Given the description of an element on the screen output the (x, y) to click on. 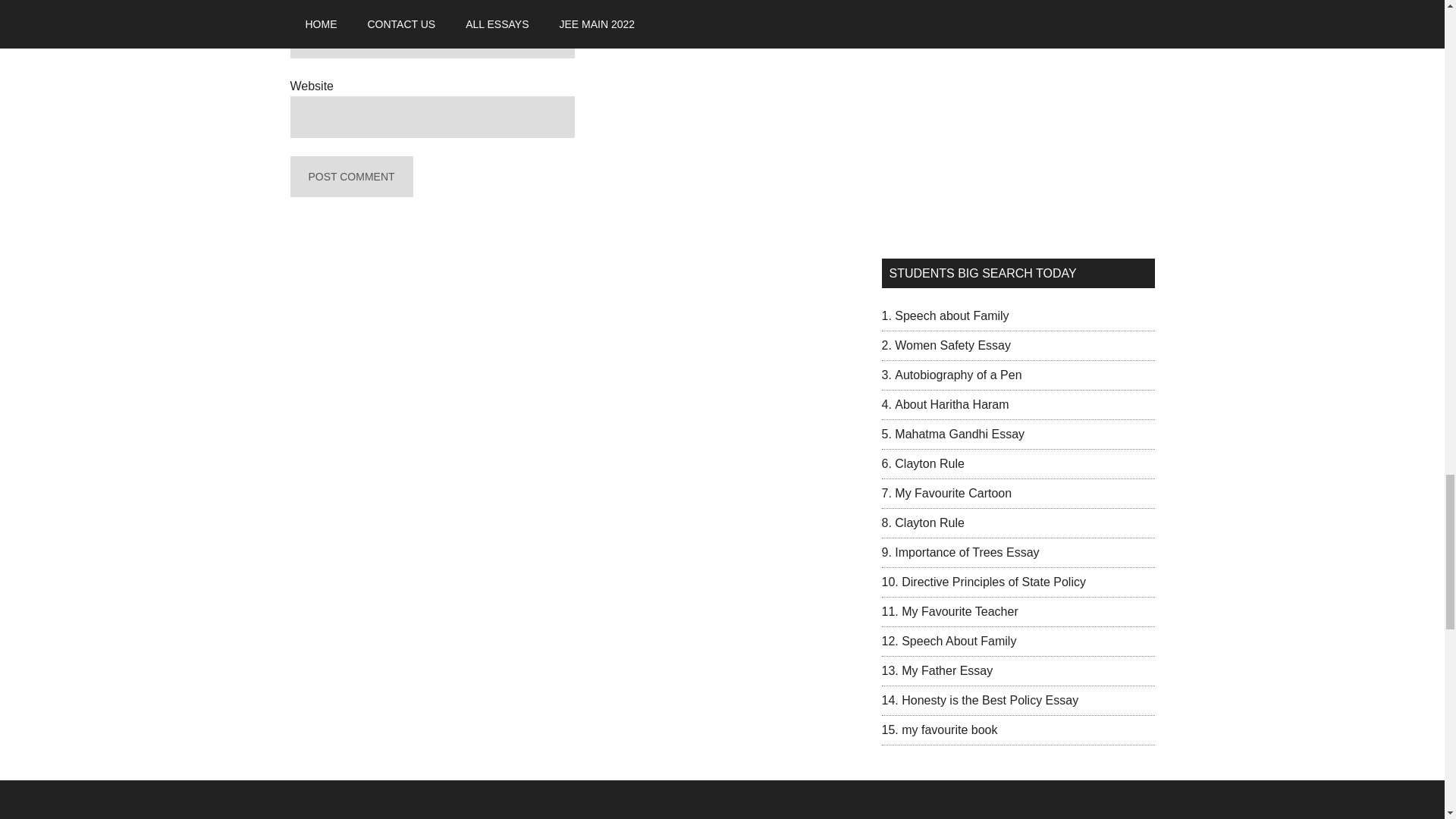
Post Comment (350, 177)
Post Comment (350, 177)
Advertisement (1017, 121)
